Given the description of an element on the screen output the (x, y) to click on. 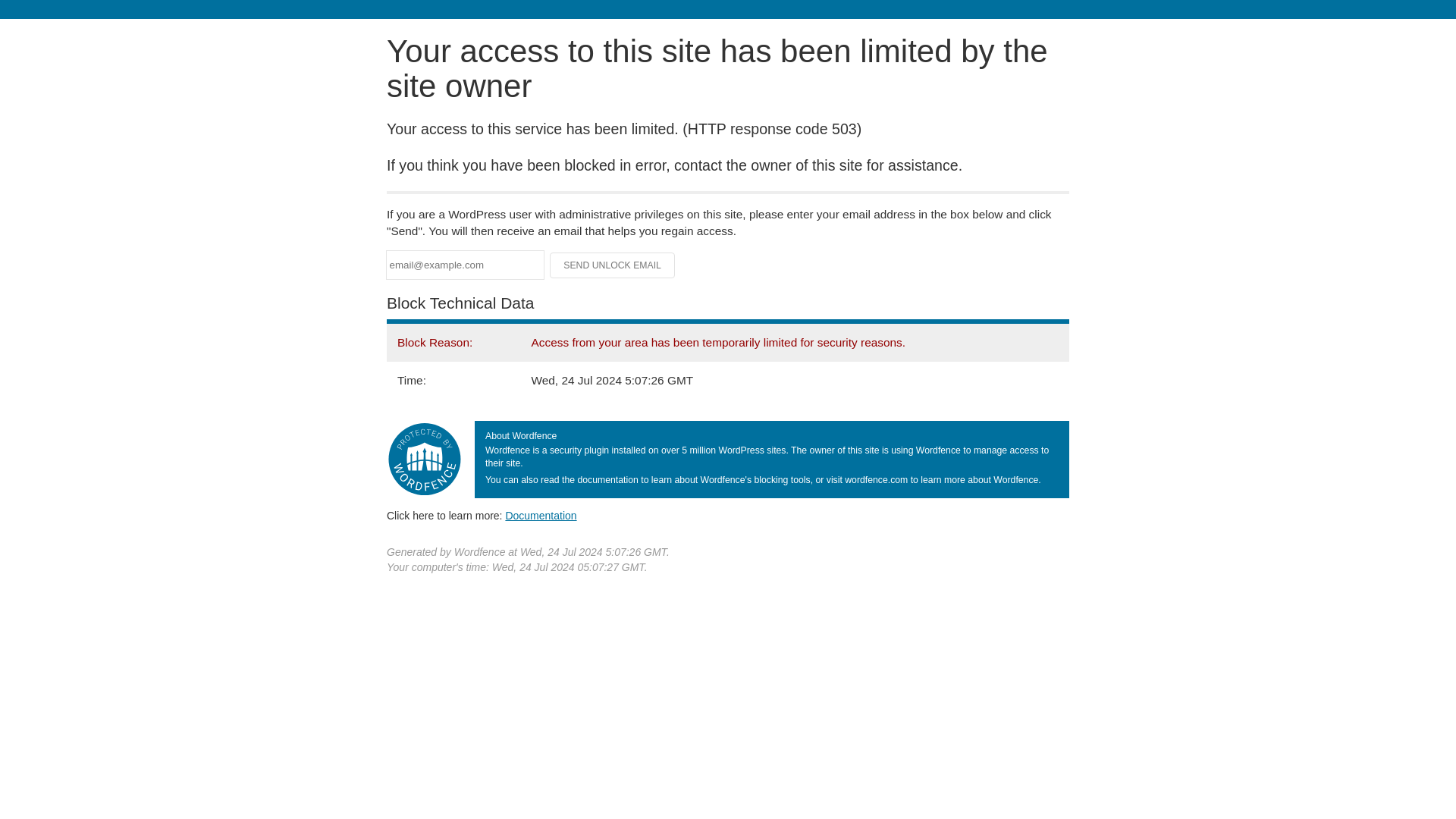
Documentation (540, 515)
Send Unlock Email (612, 265)
Send Unlock Email (612, 265)
